Given the description of an element on the screen output the (x, y) to click on. 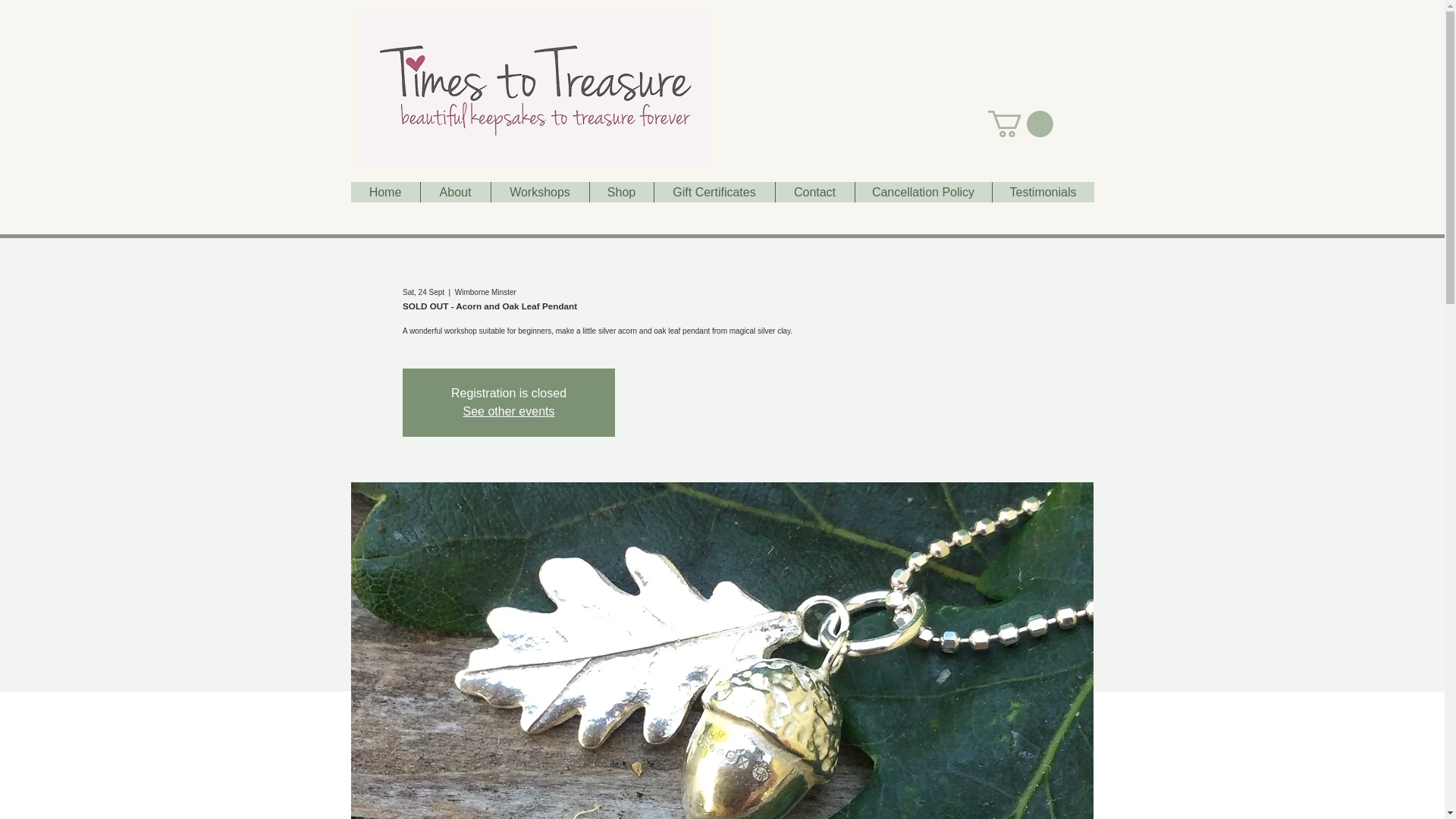
Contact (814, 191)
Gift Certificates (713, 191)
Testimonials (1042, 191)
Shop (620, 191)
Workshops (538, 191)
Cancellation Policy (922, 191)
Home (384, 191)
See other events (508, 410)
About (455, 191)
